Given the description of an element on the screen output the (x, y) to click on. 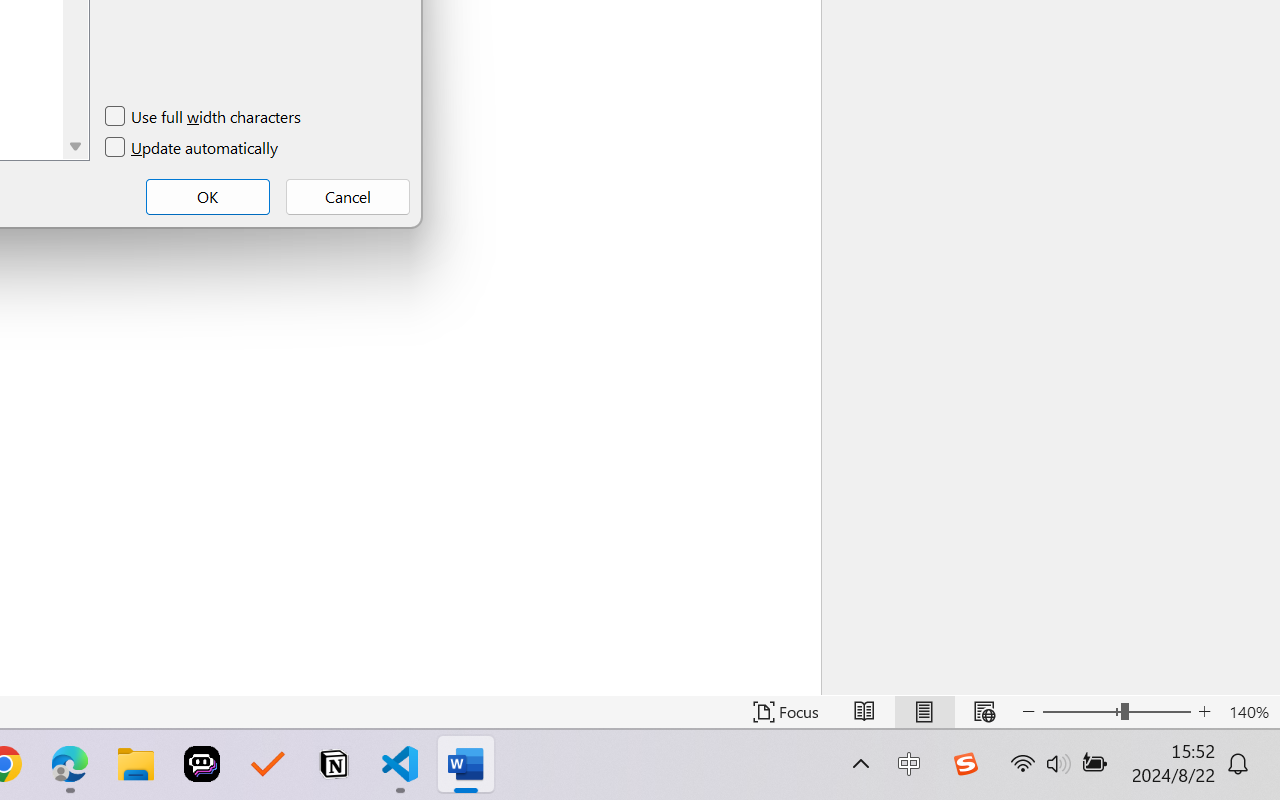
Update automatically (192, 147)
OK (207, 196)
Zoom In (1204, 712)
Poe (201, 764)
Web Layout (984, 712)
Use full width characters (204, 116)
Zoom (1116, 712)
